Given the description of an element on the screen output the (x, y) to click on. 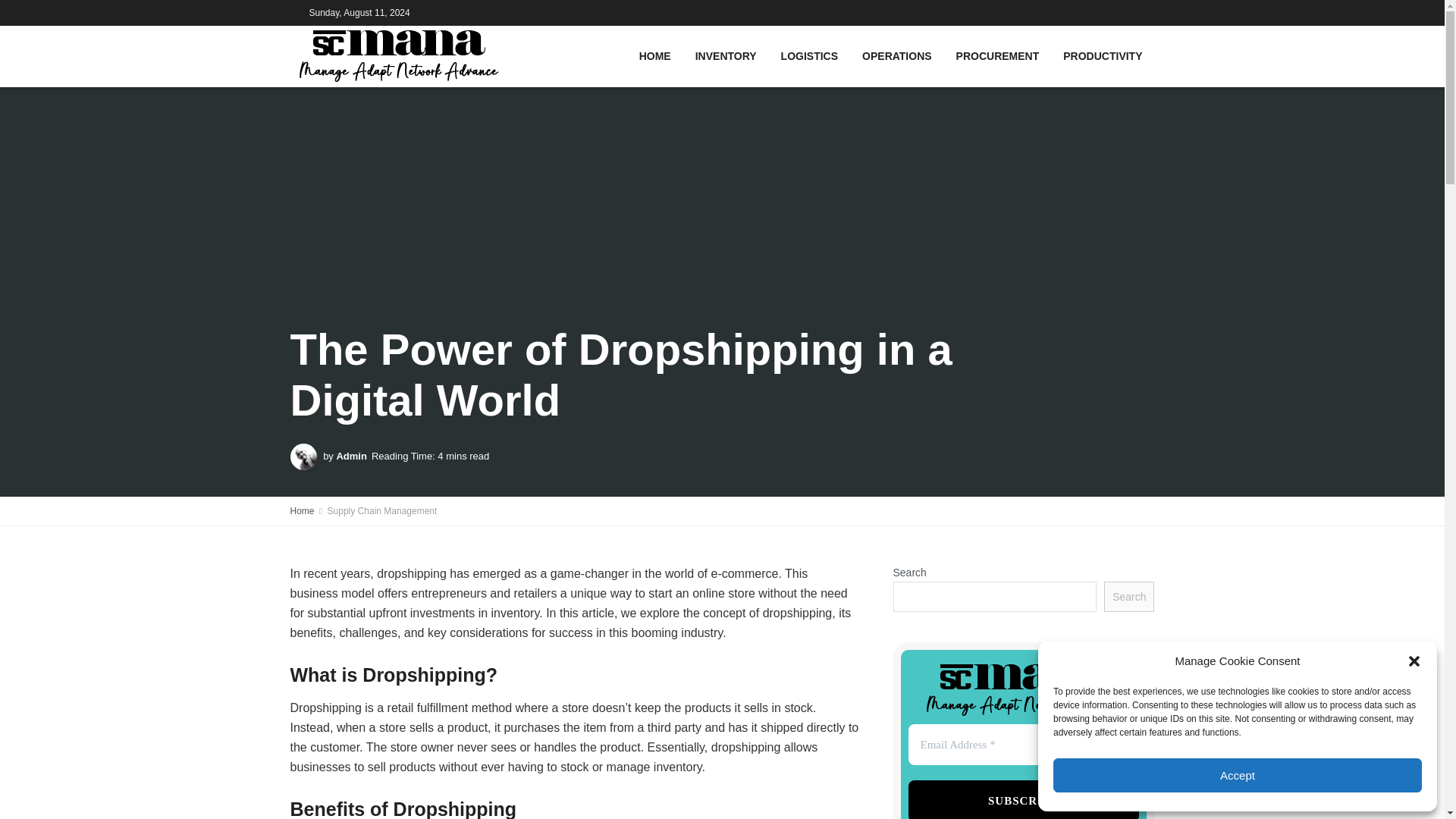
Home (301, 511)
Accept (1237, 775)
Email Address (1024, 744)
HOME (654, 55)
Supply Chain Management (382, 511)
PROCUREMENT (997, 55)
LOGISTICS (809, 55)
PRODUCTIVITY (1102, 55)
Admin (351, 455)
INVENTORY (725, 55)
